Given the description of an element on the screen output the (x, y) to click on. 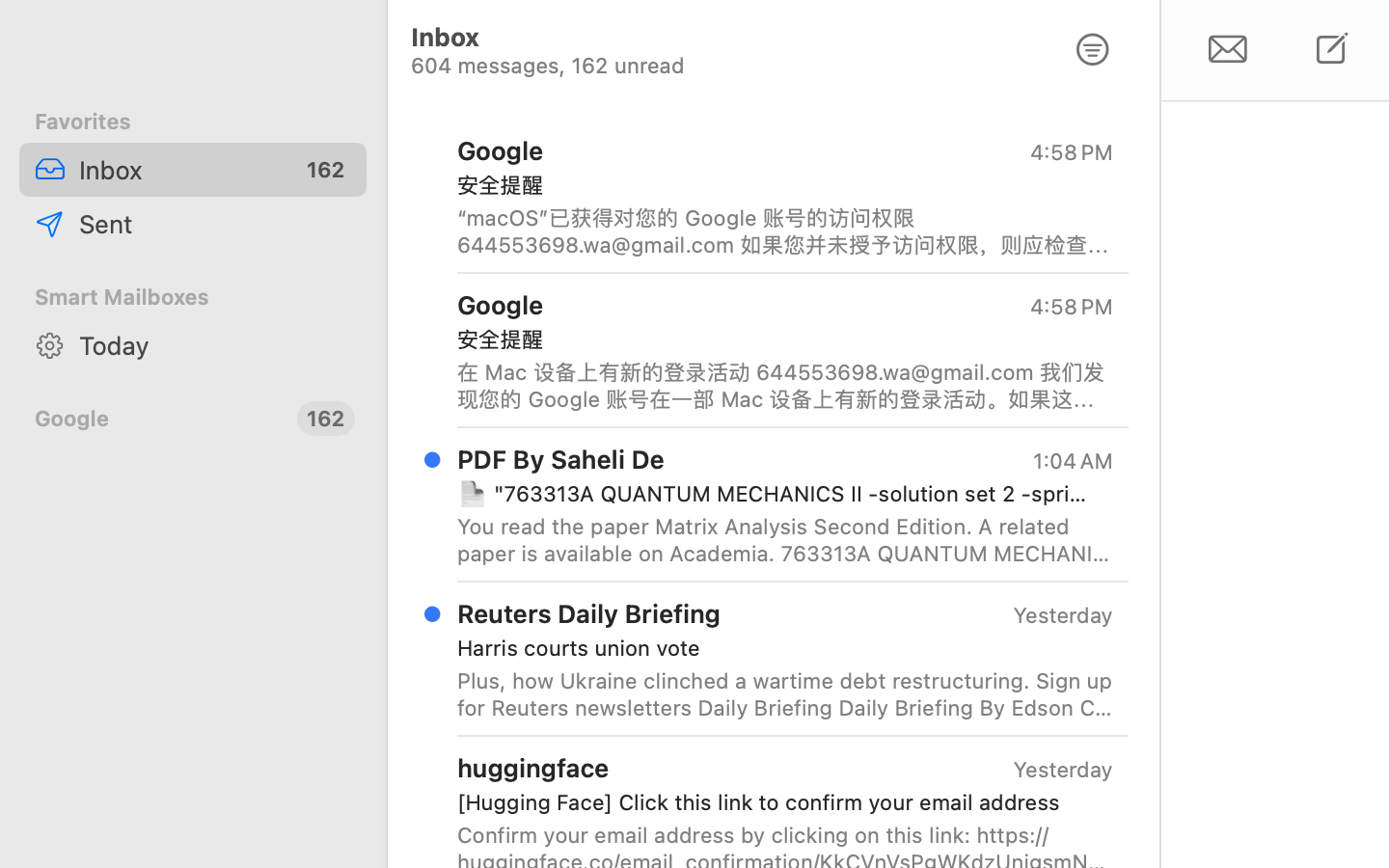
0 Element type: AXCheckBox (1092, 50)
Google Element type: AXStaticText (157, 418)
“macOS”已获得对您的 Google 账号的访问权限 644553698.wa@gmail.com 如果您并未授予访问权限，则应检查此活动，并确保您的账号安全。 查看活动 您也可以访问以下网址查看安全性活动： https://myaccount.google.com/notifications 我们向您发送这封电子邮件，目的是让您了解关于您的 Google 账号和服务的重大变化。 © 2024 Google LLC, 1600 Amphitheatre Parkway, Mountain View, CA 94043, USA Element type: AXStaticText (784, 231)
安全提醒 Element type: AXStaticText (777, 184)
Plus, how Ukraine clinched a wartime debt restructuring. Sign up for Reuters newsletters Daily Briefing Daily Briefing By Edson Caldas Kamala Harris said that US Steel should remain in domestic hands, making a pitch to working-class voters in Pennsylvania who are also being courted by her rival Donald Trump. Elsewhere, we cover Britain's partial suspension of arms export licenses to Israel, and a slump in Intel's share price. Plus, why South Korea's beloved Kimchi is at risk. Today's Top News Kamala Harris with Joe Biden's first appearance together at a rally since she became the Democratic nominee. REUTERS/Quinn Glabicki US election Democratic presidential candidate Kamala Harris used campaign events in Michigan and Pennsylvania, two battleground states, to court the crucial labor vote. Harris has neutralized Donald Trump's edge on the economy among Hispanic voters, and her 13 percentage point lead within that group reflects the fact they vastly prefer her approach to healthcare and c Element type: AXStaticText (784, 694)
